Given the description of an element on the screen output the (x, y) to click on. 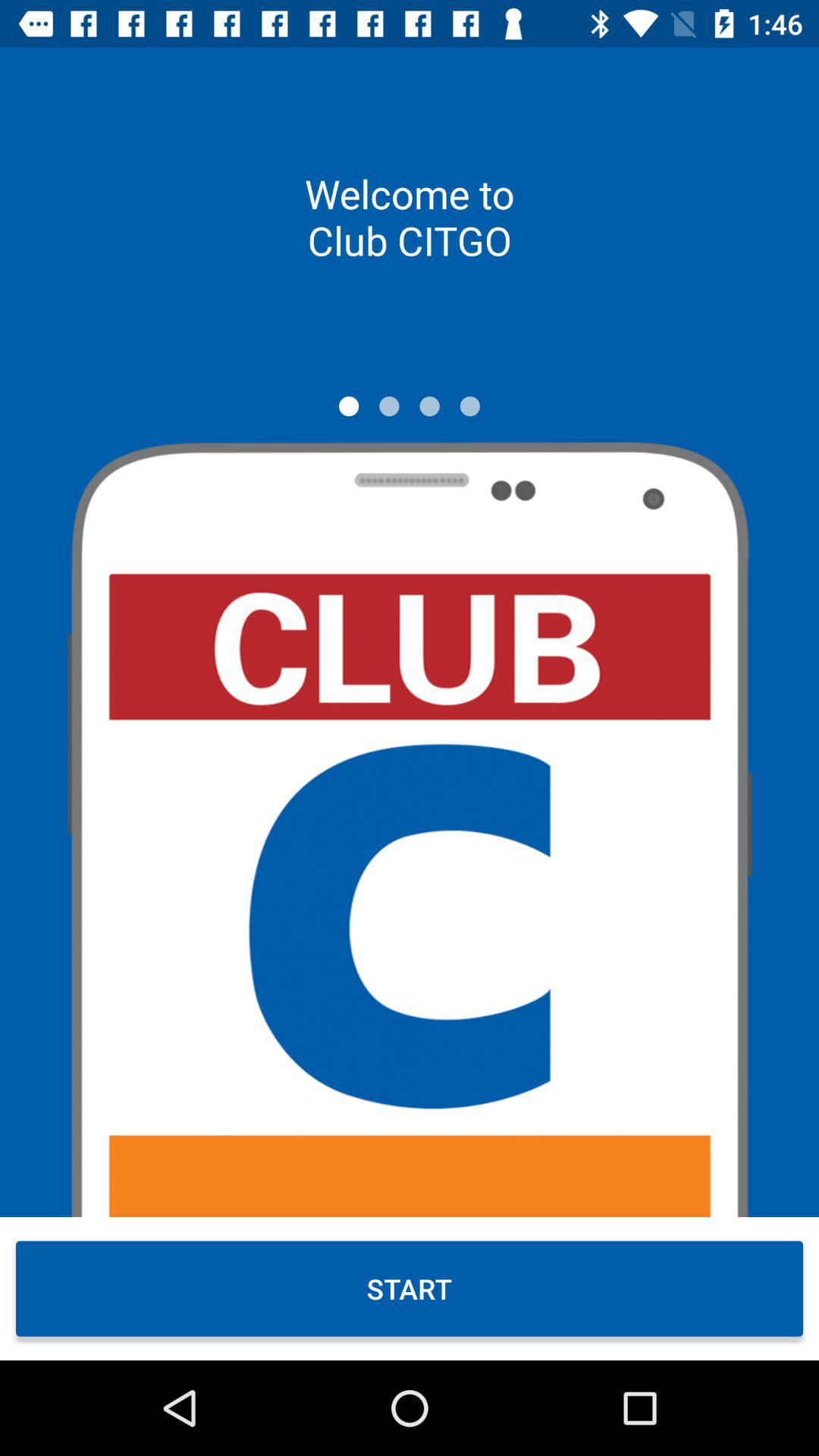
move to third slide (429, 406)
